Given the description of an element on the screen output the (x, y) to click on. 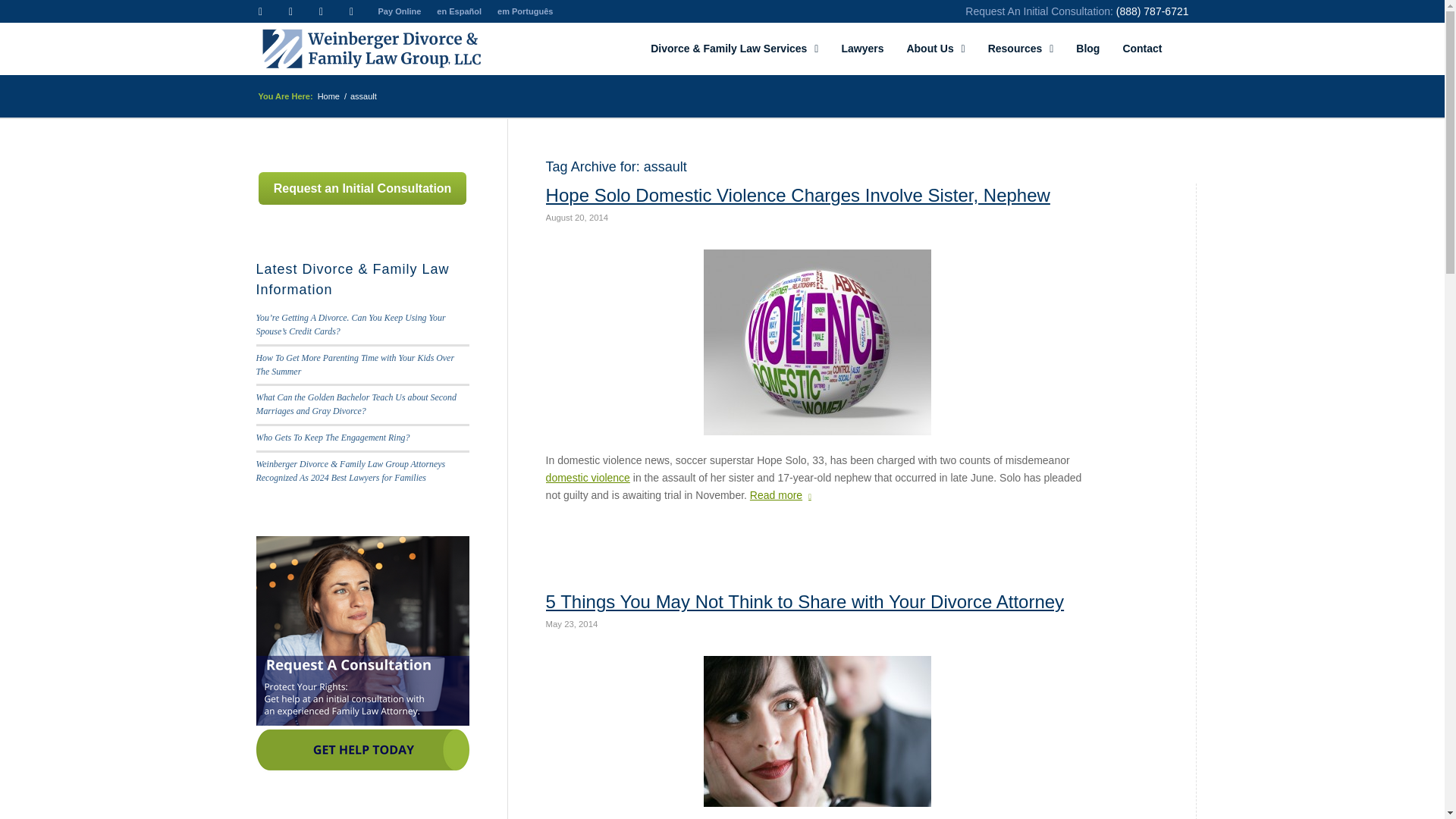
Lawyers (862, 47)
Contact (1141, 47)
Facebook (319, 11)
Blog (1087, 47)
domestic violence (588, 477)
LinkedIn (290, 11)
About Us (935, 47)
Pay Online (398, 11)
Home (328, 96)
Resources (1020, 47)
Twitter (259, 11)
Hope Solo Domestic Violence Charges Involve Sister, Nephew (797, 195)
Youtube (350, 11)
